Given the description of an element on the screen output the (x, y) to click on. 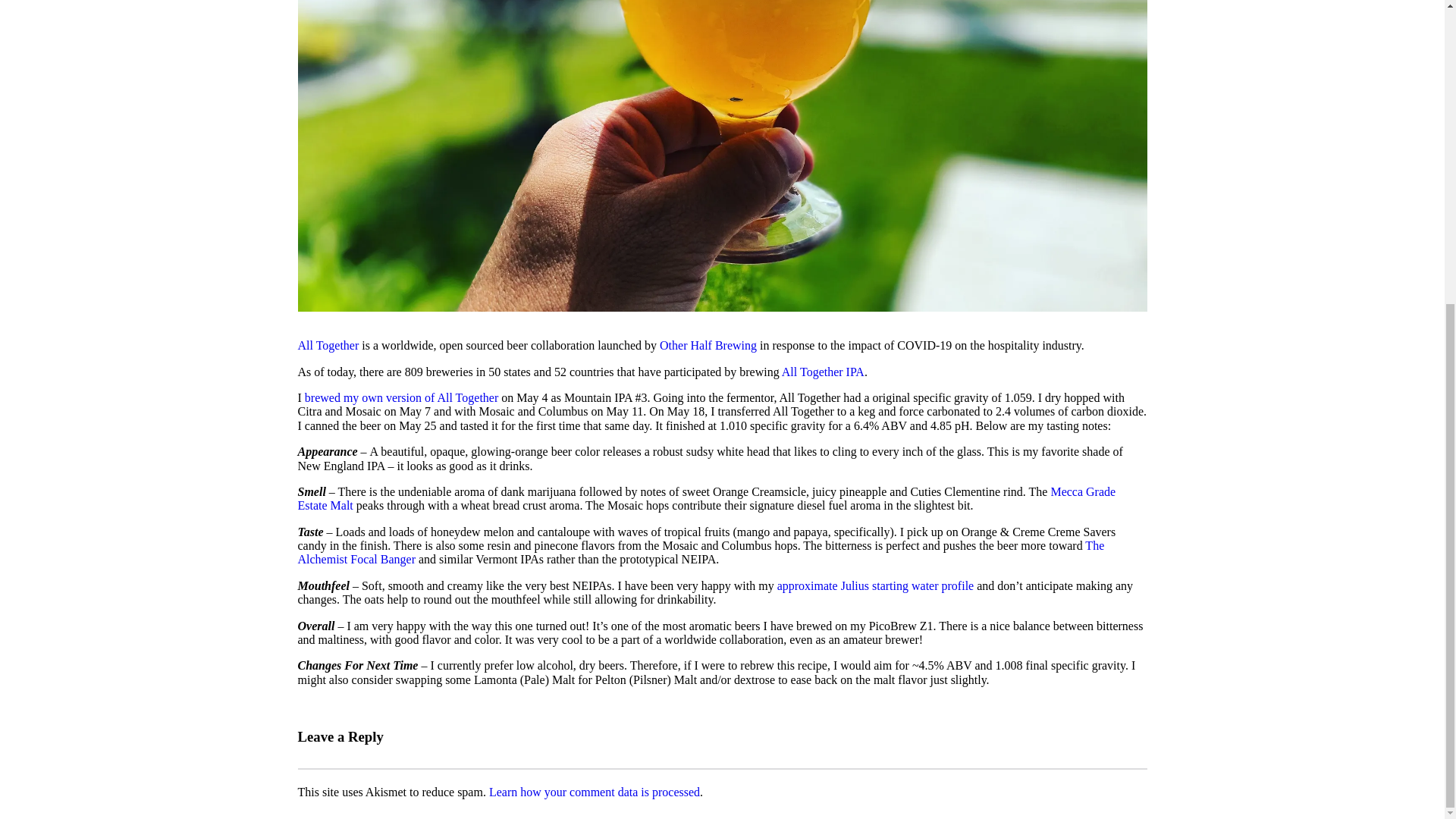
brewed my own version of All Together (400, 397)
approximate Julius starting water profile (875, 585)
All Together (327, 345)
The Alchemist Focal Banger (700, 551)
Mecca Grade Estate Malt (706, 498)
Other Half Brewing (708, 345)
Learn how your comment data is processed (594, 791)
All Together IPA (822, 371)
